Given the description of an element on the screen output the (x, y) to click on. 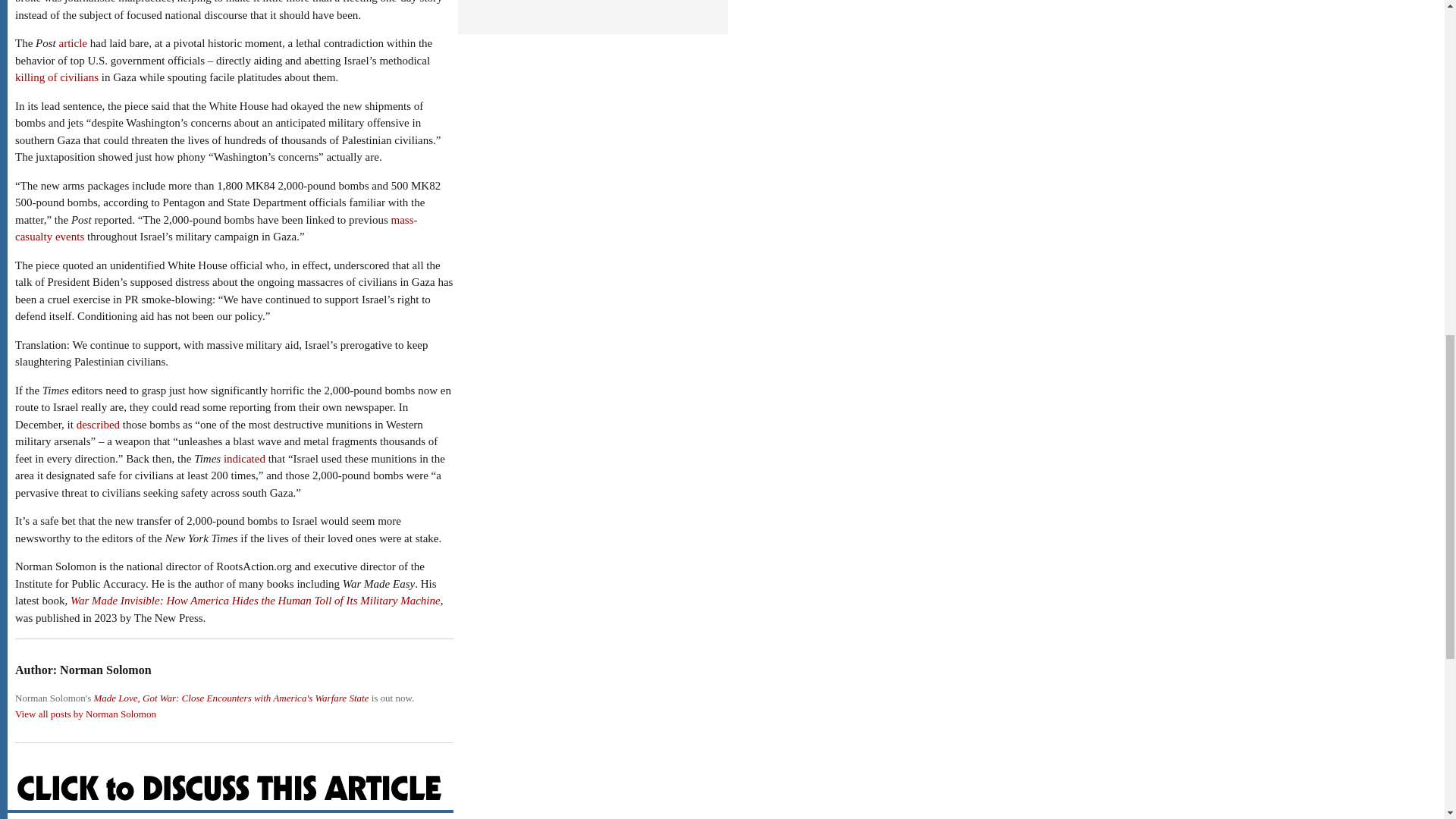
mass-casualty events (215, 228)
indicated (244, 458)
killing of civilians (56, 77)
article (73, 42)
described (98, 424)
